Given the description of an element on the screen output the (x, y) to click on. 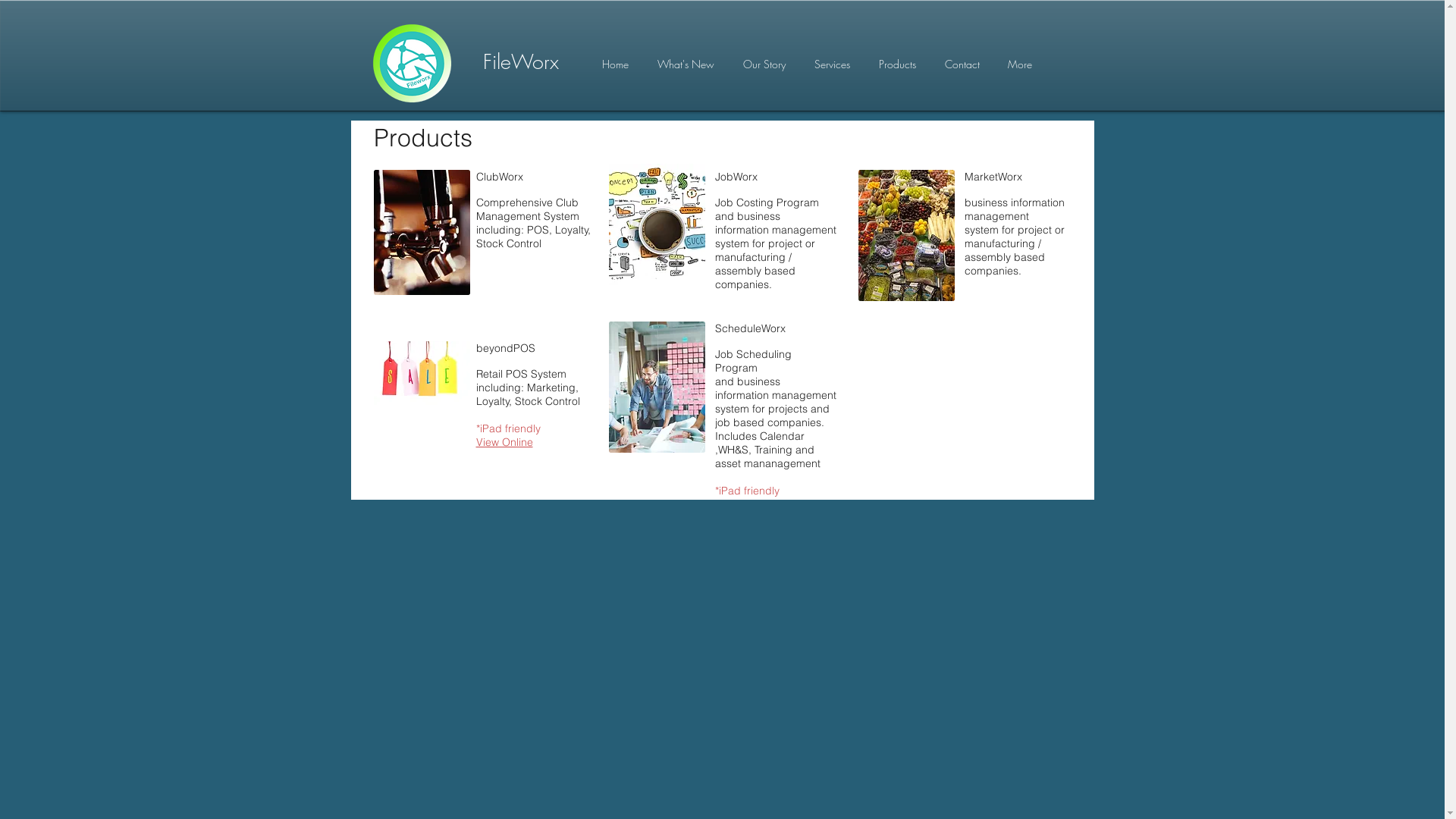
Contact Element type: text (961, 64)
Brainstorm to Success Element type: hover (656, 228)
Beer Tap Element type: hover (421, 231)
Fruit & Vegetable Market Element type: hover (906, 235)
Our Story Element type: text (763, 64)
What's New Element type: text (685, 64)
Sale  Element type: hover (421, 373)
Products Element type: text (897, 64)
Home Element type: text (614, 64)
View Online Element type: text (504, 442)
Brainstorming Session Element type: hover (656, 386)
Services Element type: text (831, 64)
